Given the description of an element on the screen output the (x, y) to click on. 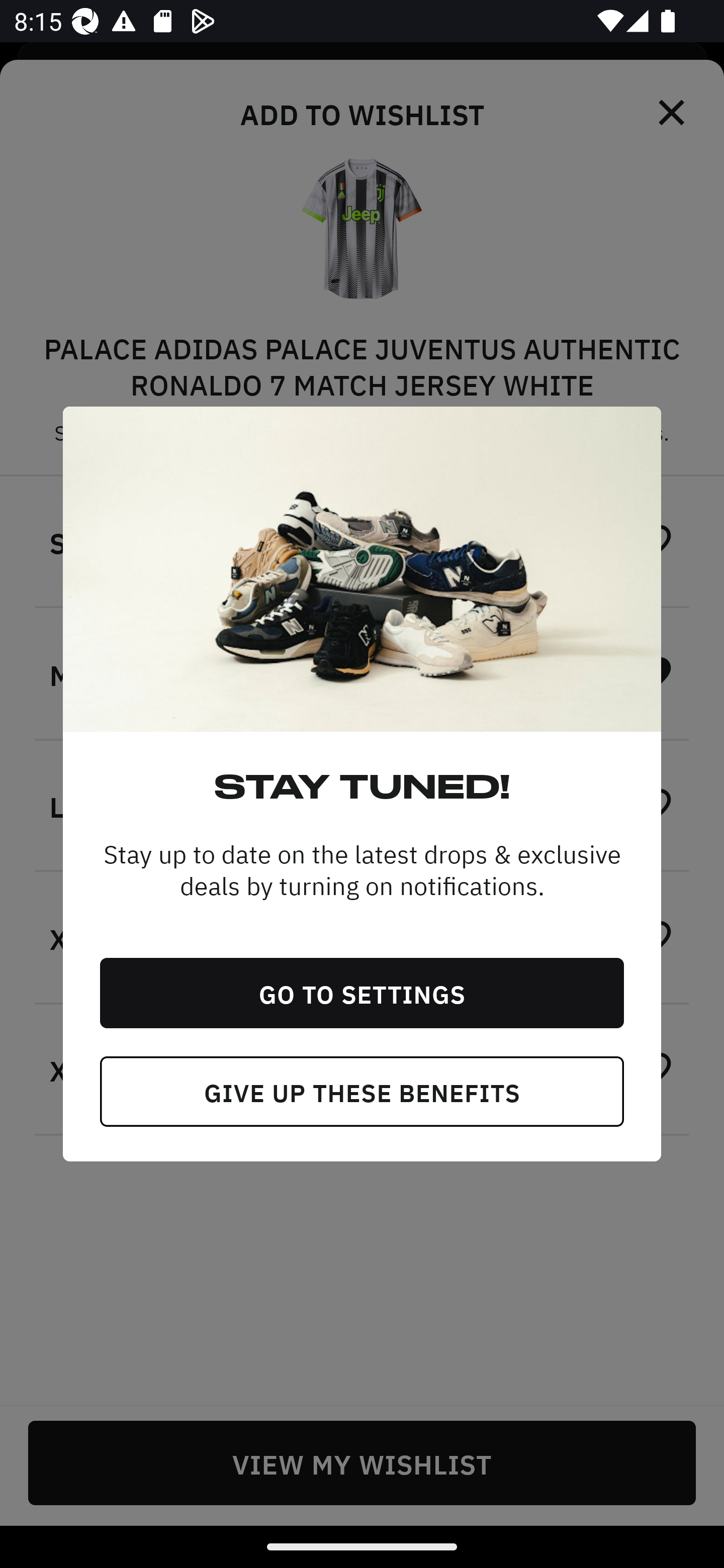
GO TO SETTINGS (361, 993)
GIVE UP THESE BENEFITS (361, 1091)
